Given the description of an element on the screen output the (x, y) to click on. 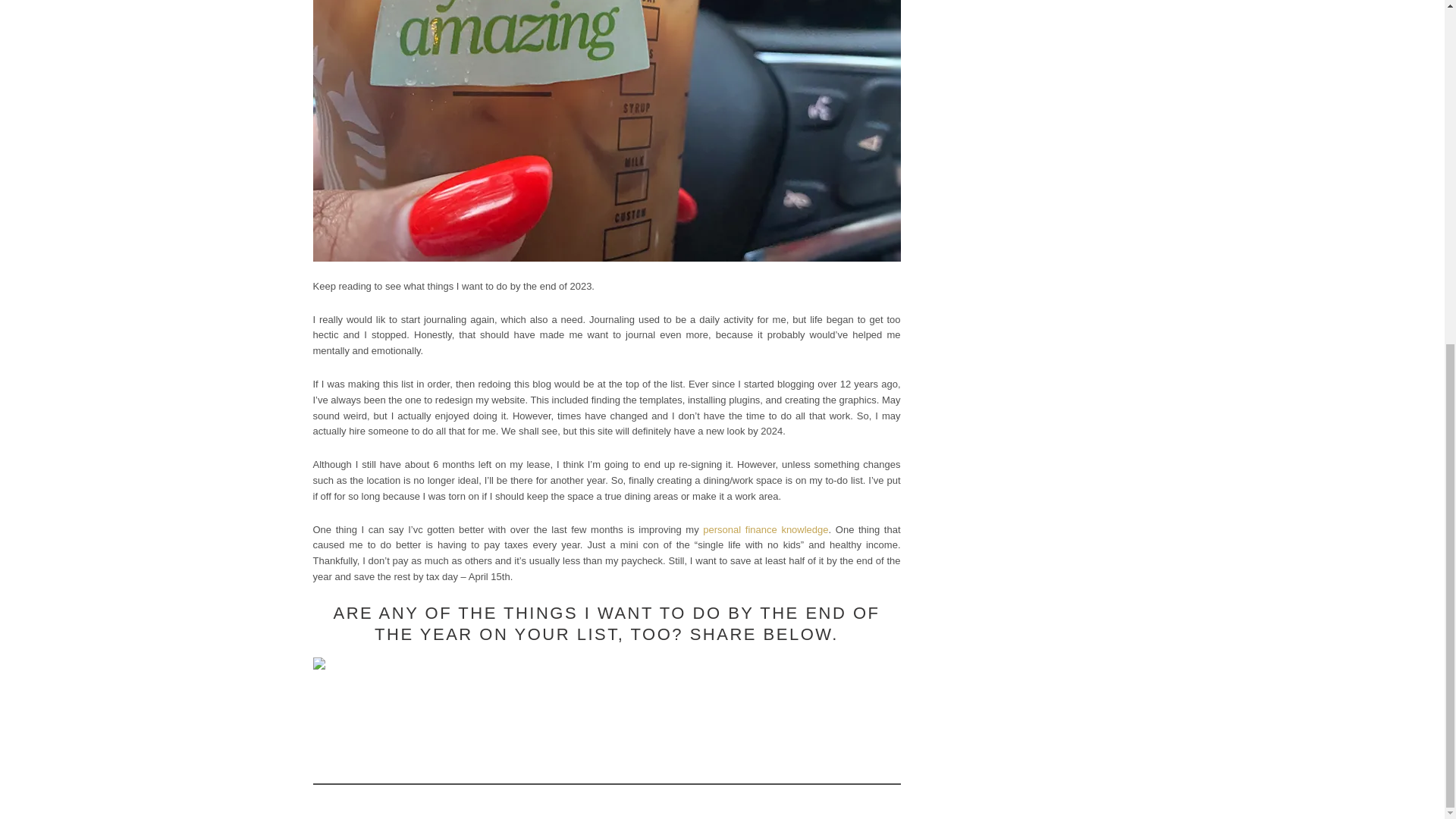
personal finance knowledge (765, 529)
